Given the description of an element on the screen output the (x, y) to click on. 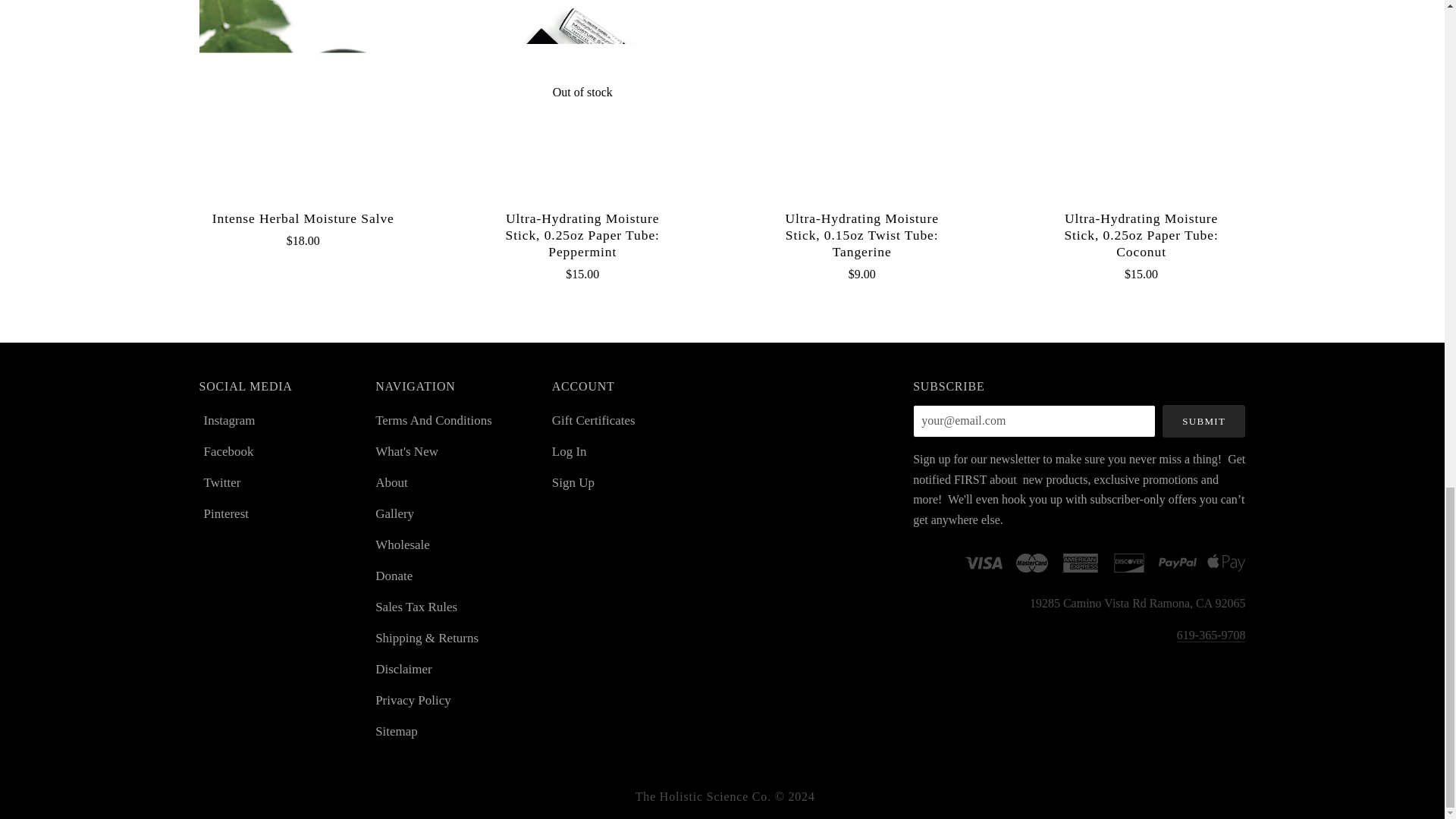
Ultra-Hydrating Moisture Stick, 0.15oz Twist Tube: Tangerine (860, 234)
Submit (1203, 420)
Intense Herbal Moisture Salve (303, 218)
Ultra-Hydrating Moisture Stick, 0.25oz Paper Tube: Coconut (1141, 99)
Ultra-Hydrating Moisture Stick, 0.15oz Twist Tube: Tangerine (861, 99)
Intense Herbal Moisture Salve (302, 99)
Ultra-Hydrating Moisture Stick, 0.25oz Paper Tube: Coconut (1140, 234)
